Given the description of an element on the screen output the (x, y) to click on. 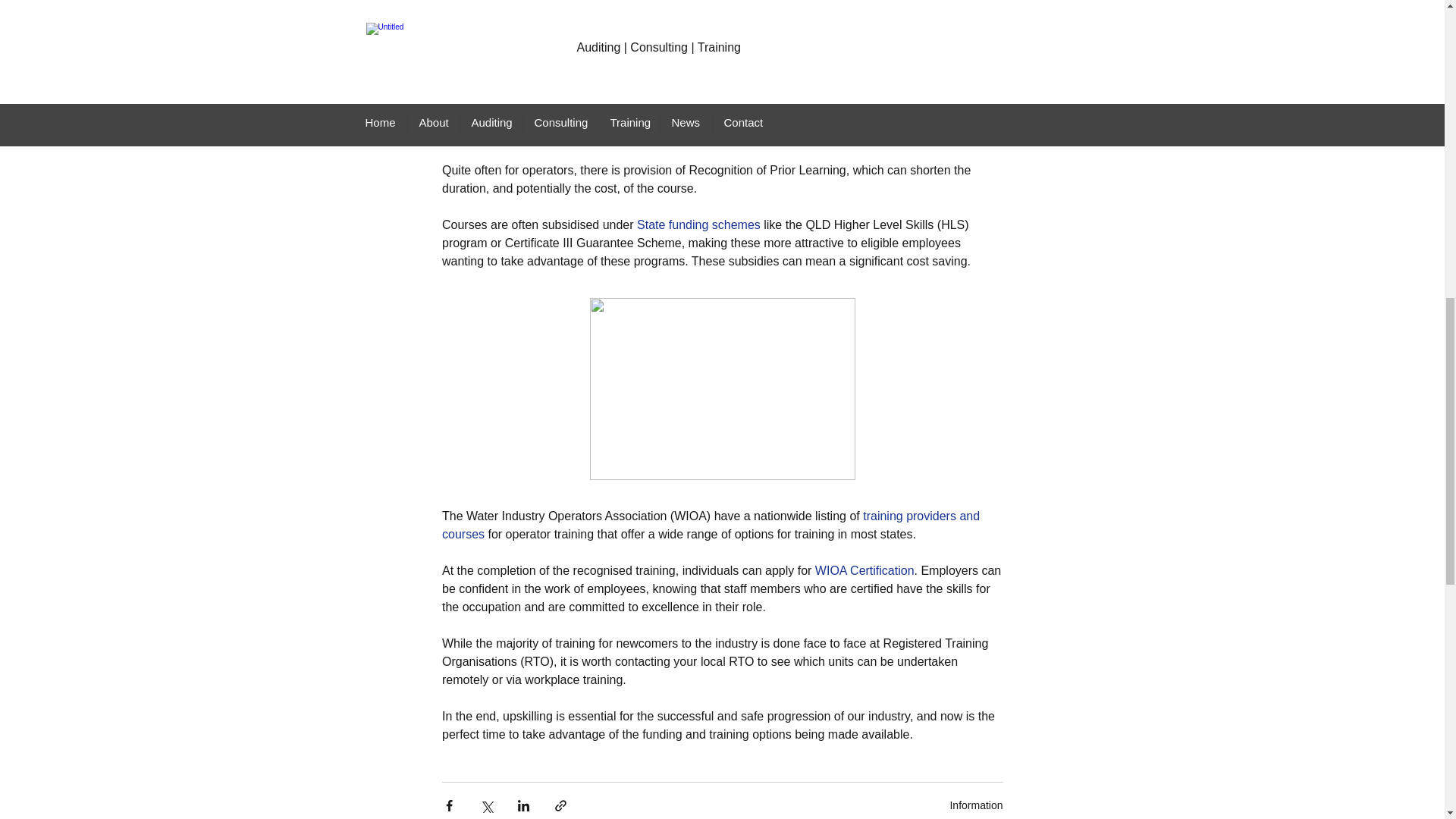
State funding schemes (698, 224)
QLD TAFE SkillsTech (680, 115)
Information (976, 805)
WIOA Certification (863, 570)
training providers and courses (711, 524)
